Given the description of an element on the screen output the (x, y) to click on. 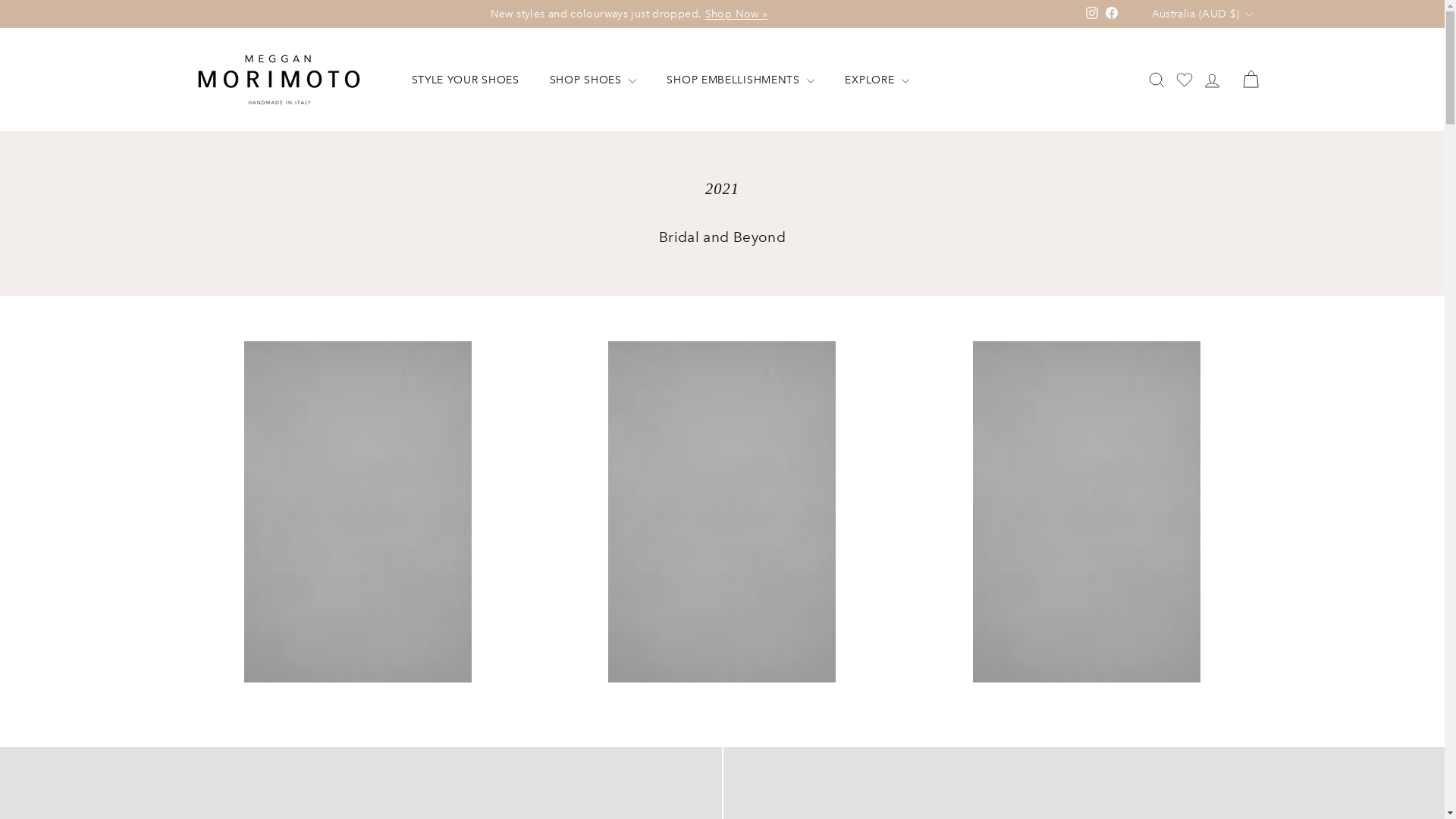
instagram
Instagram Element type: text (1091, 13)
STYLE YOUR SHOES Element type: text (464, 79)
Australia (AUD $) Element type: text (1202, 13)
ACCOUNT Element type: text (1211, 79)
Facebook Element type: text (1111, 13)
SEARCH Element type: text (1156, 79)
CART Element type: text (1250, 79)
